Given the description of an element on the screen output the (x, y) to click on. 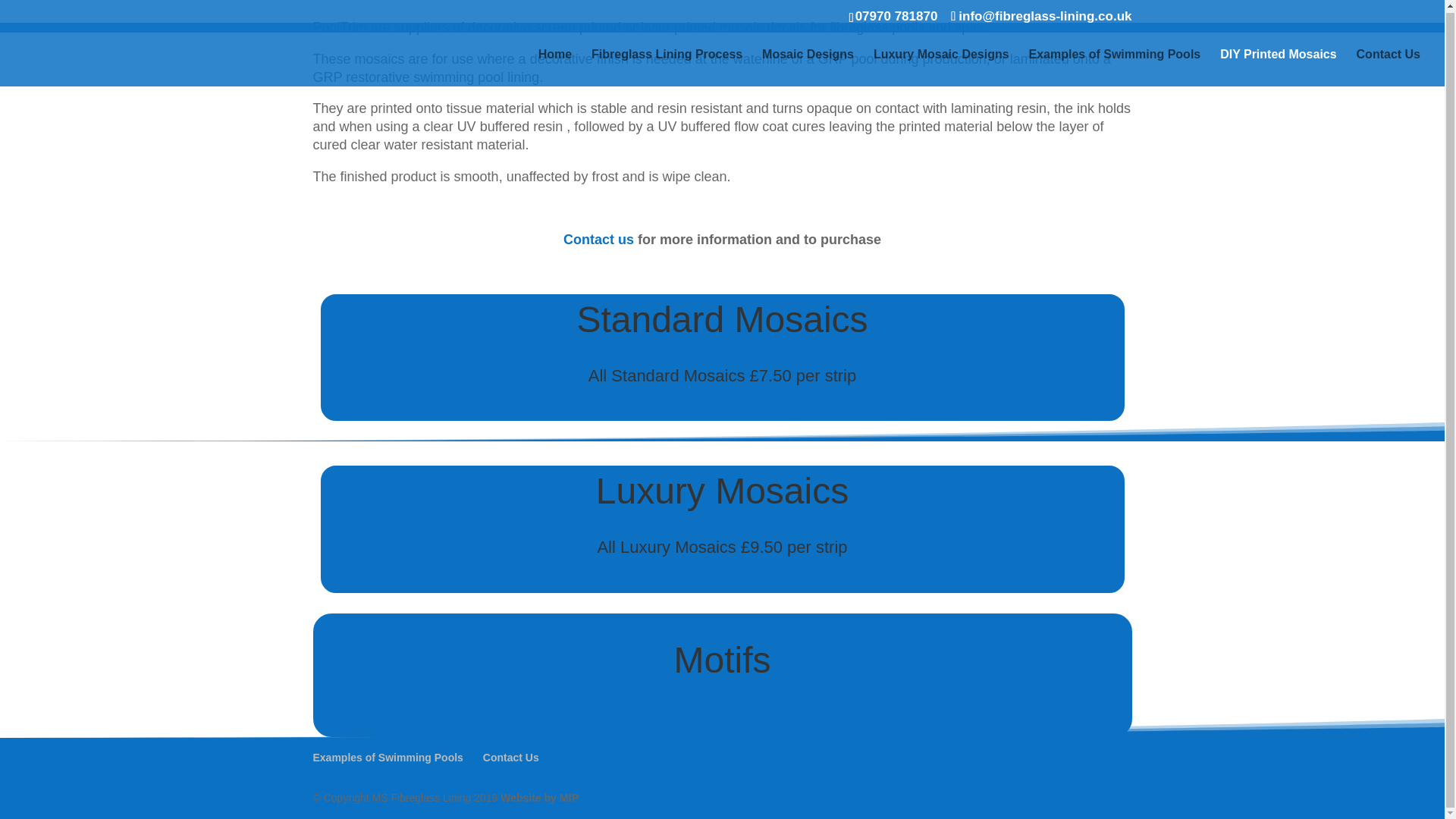
Home (555, 66)
Fibreglass Lining Process (666, 66)
Contact Us (1388, 66)
DIY Printed Mosaics (1278, 66)
Luxury Mosaic Designs (941, 66)
07970 781870 (896, 14)
Contact us (598, 239)
Examples of Swimming Pools (1115, 66)
Mosaic Designs (807, 66)
